Given the description of an element on the screen output the (x, y) to click on. 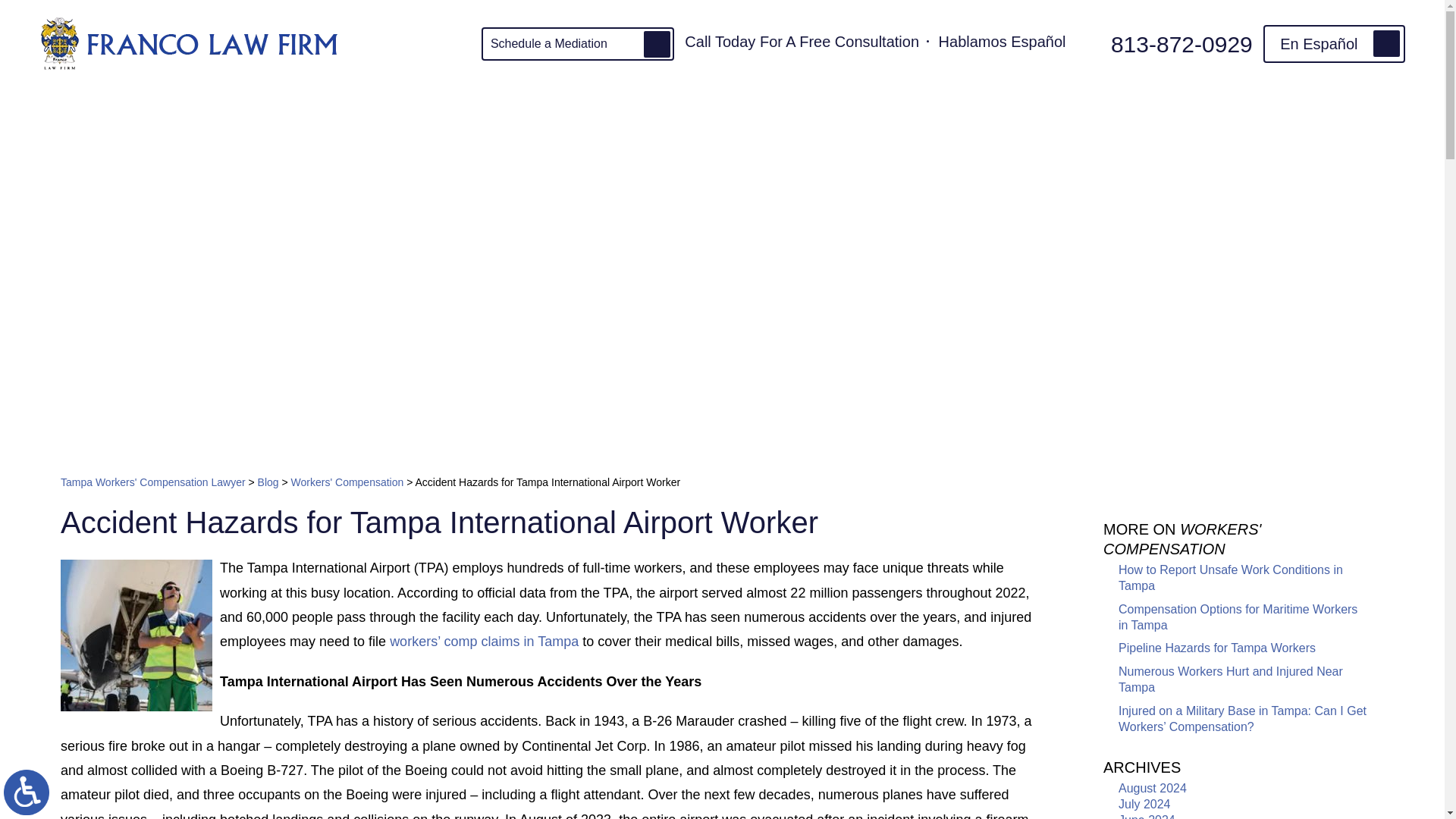
Practice Areas (534, 104)
813-872-0929 (1168, 43)
Schedule a Mediation (577, 44)
Home (324, 104)
AirportWorkers (136, 635)
Switch to ADA Accessible Theme (26, 791)
About Us (416, 104)
